Given the description of an element on the screen output the (x, y) to click on. 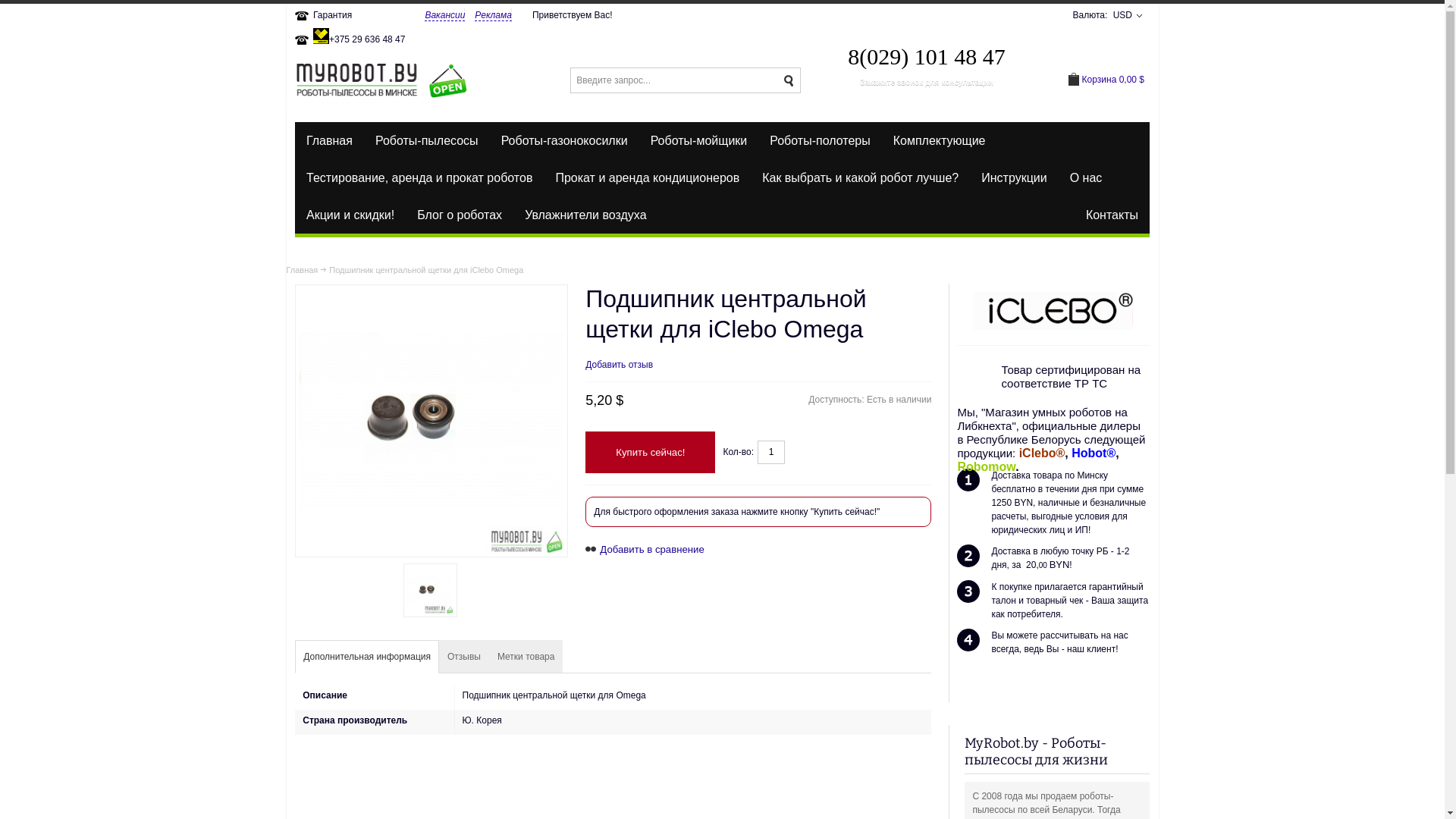
Magento Commerce Element type: hover (381, 80)
Zoom Element type: text (431, 420)
